Given the description of an element on the screen output the (x, y) to click on. 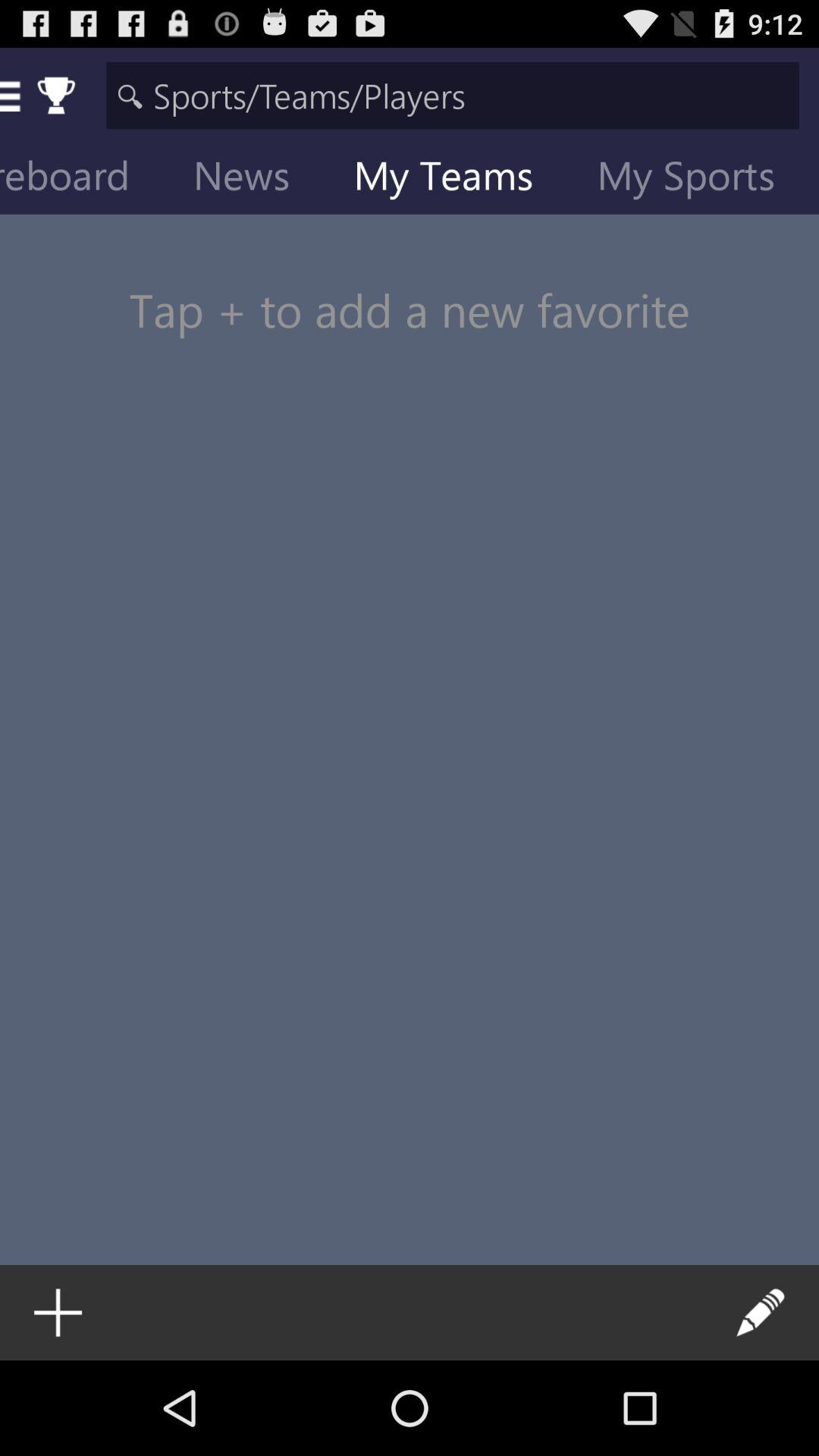
turn on the icon next to the news icon (86, 178)
